Given the description of an element on the screen output the (x, y) to click on. 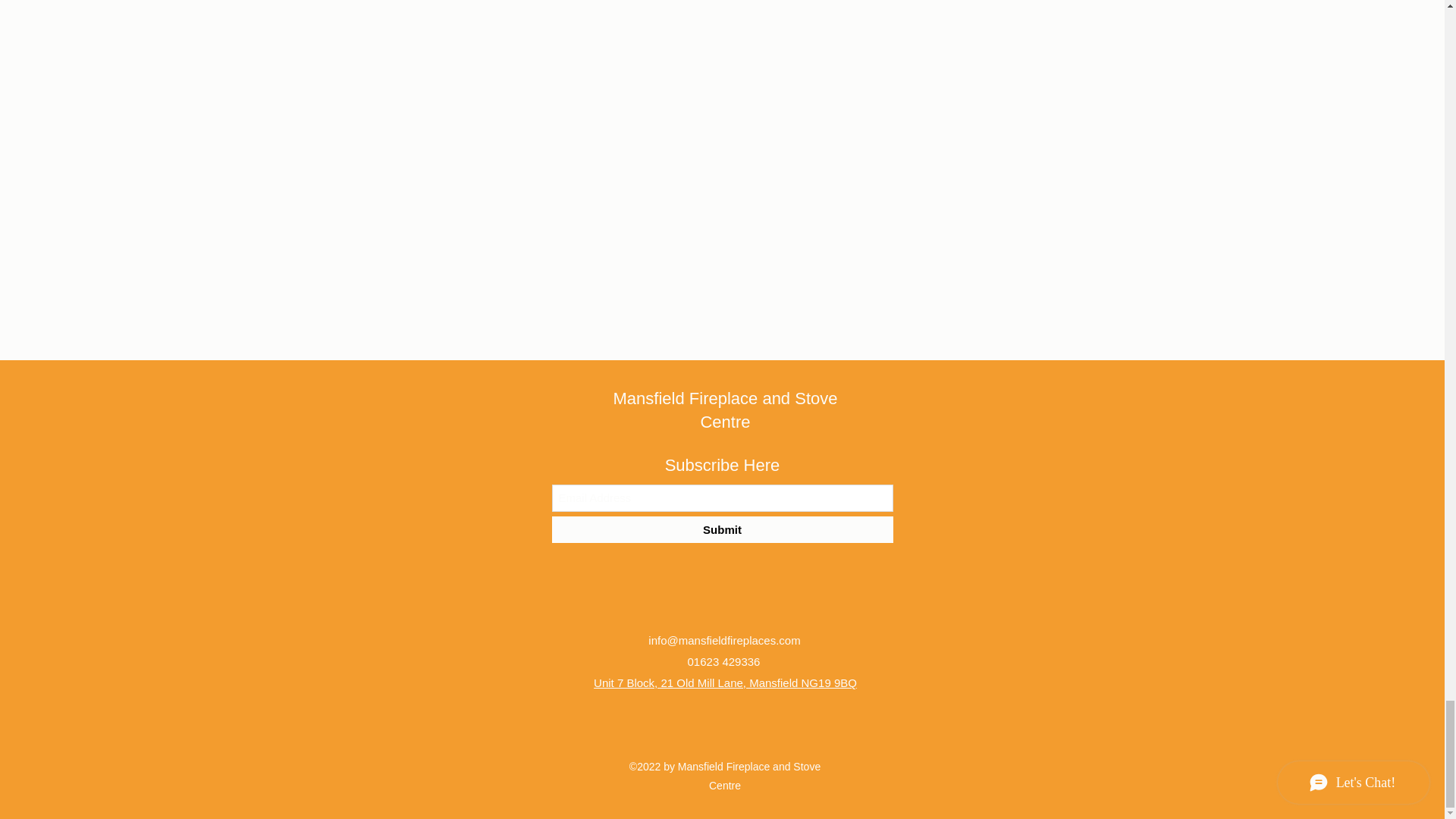
Google Maps (721, 84)
Submit (722, 529)
Unit 7 Block, 21 Old Mill Lane, Mansfield NG19 9BQ (725, 682)
Mansfield Fireplace and Stove Centre (725, 410)
